Given the description of an element on the screen output the (x, y) to click on. 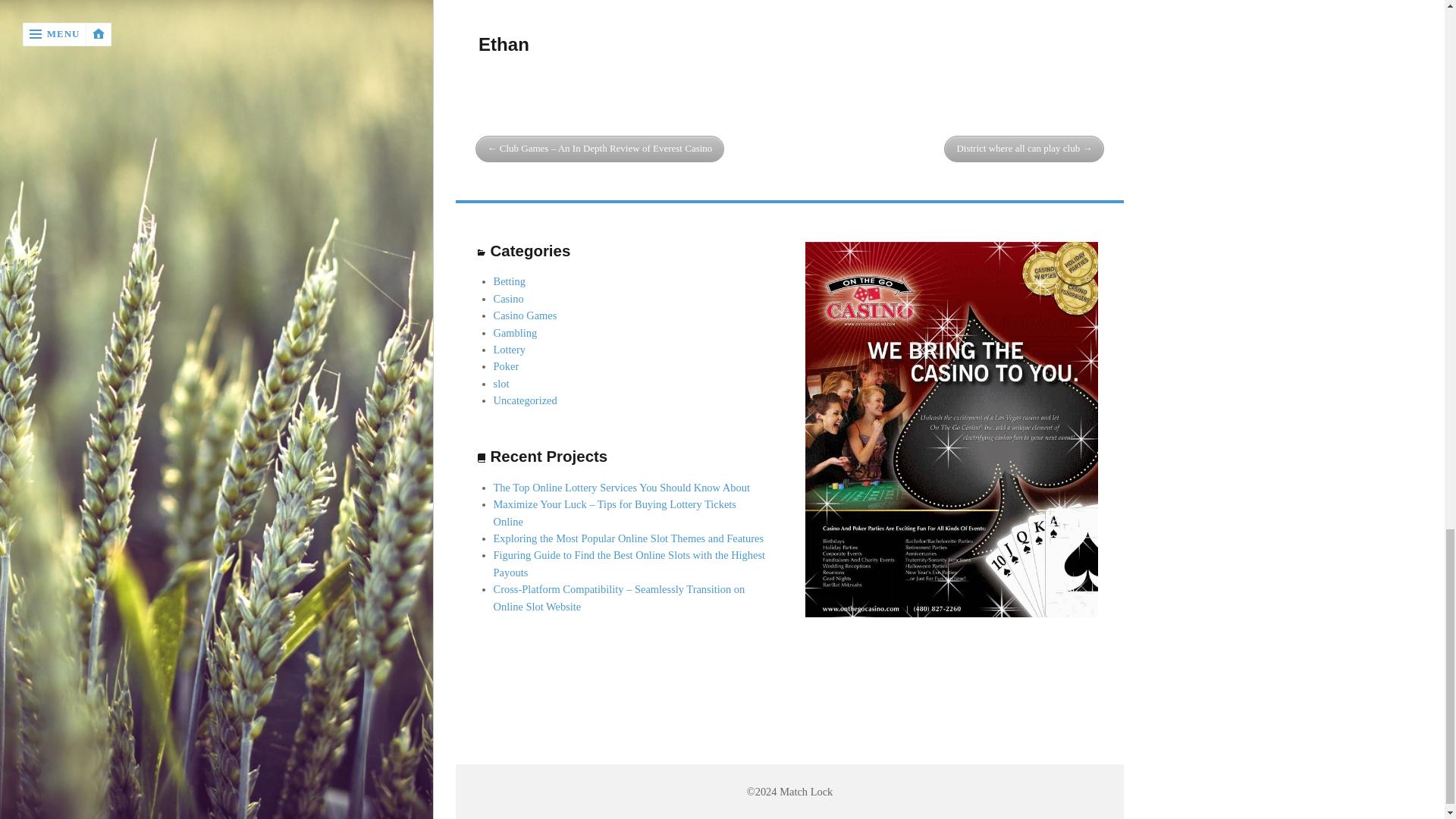
Casino Games (525, 315)
Uncategorized (525, 399)
Gambling (515, 332)
slot (501, 383)
The Top Online Lottery Services You Should Know About (621, 487)
Lottery (509, 349)
Betting (509, 281)
Casino (508, 298)
Exploring the Most Popular Online Slot Themes and Features (628, 538)
